Given the description of an element on the screen output the (x, y) to click on. 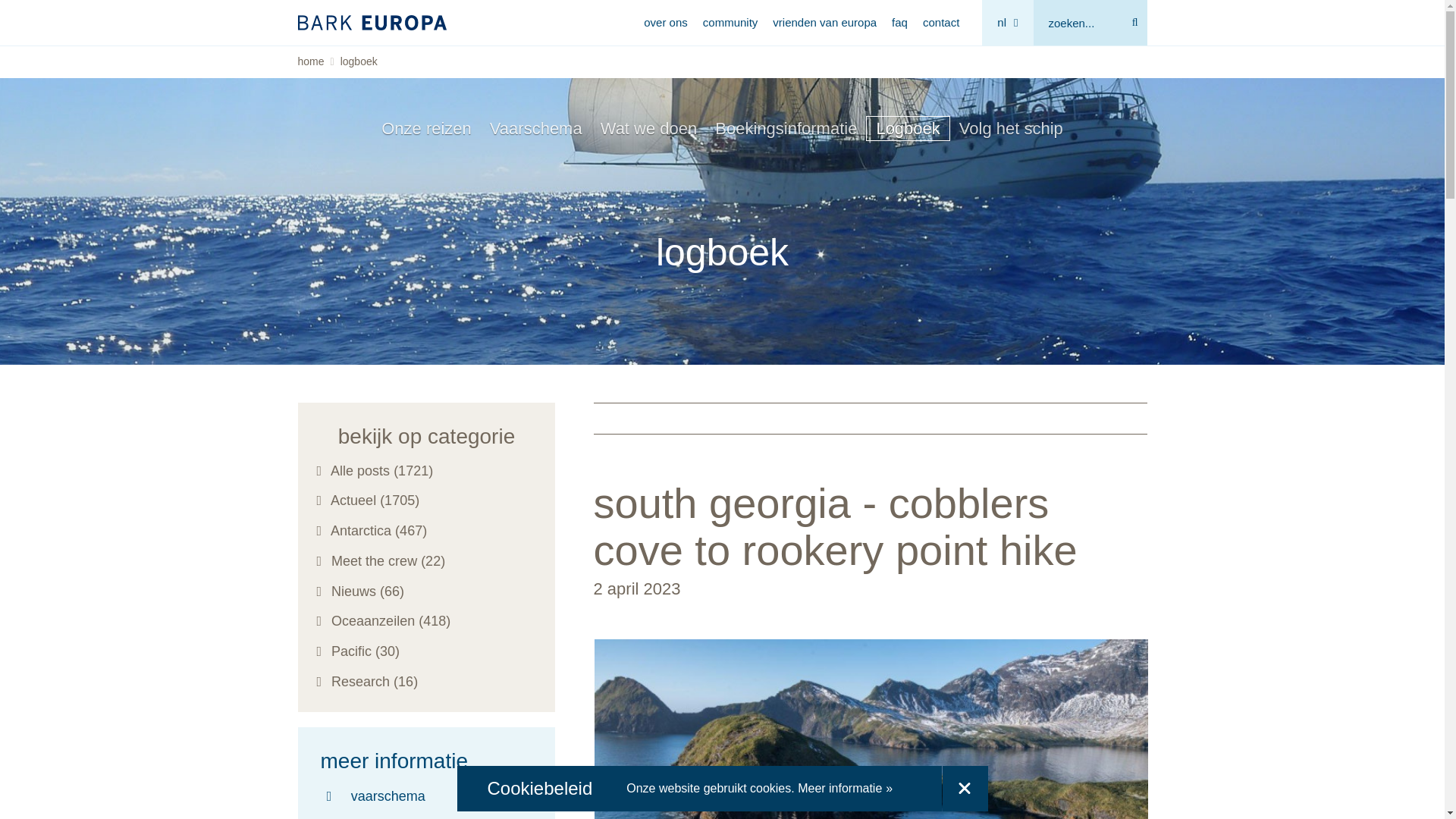
Onze reizen (426, 127)
Wat we doen (648, 127)
Volg het schip (1010, 127)
Vaarschema (535, 127)
Logboek (907, 127)
Boekingsinformatie (786, 127)
